Given the description of an element on the screen output the (x, y) to click on. 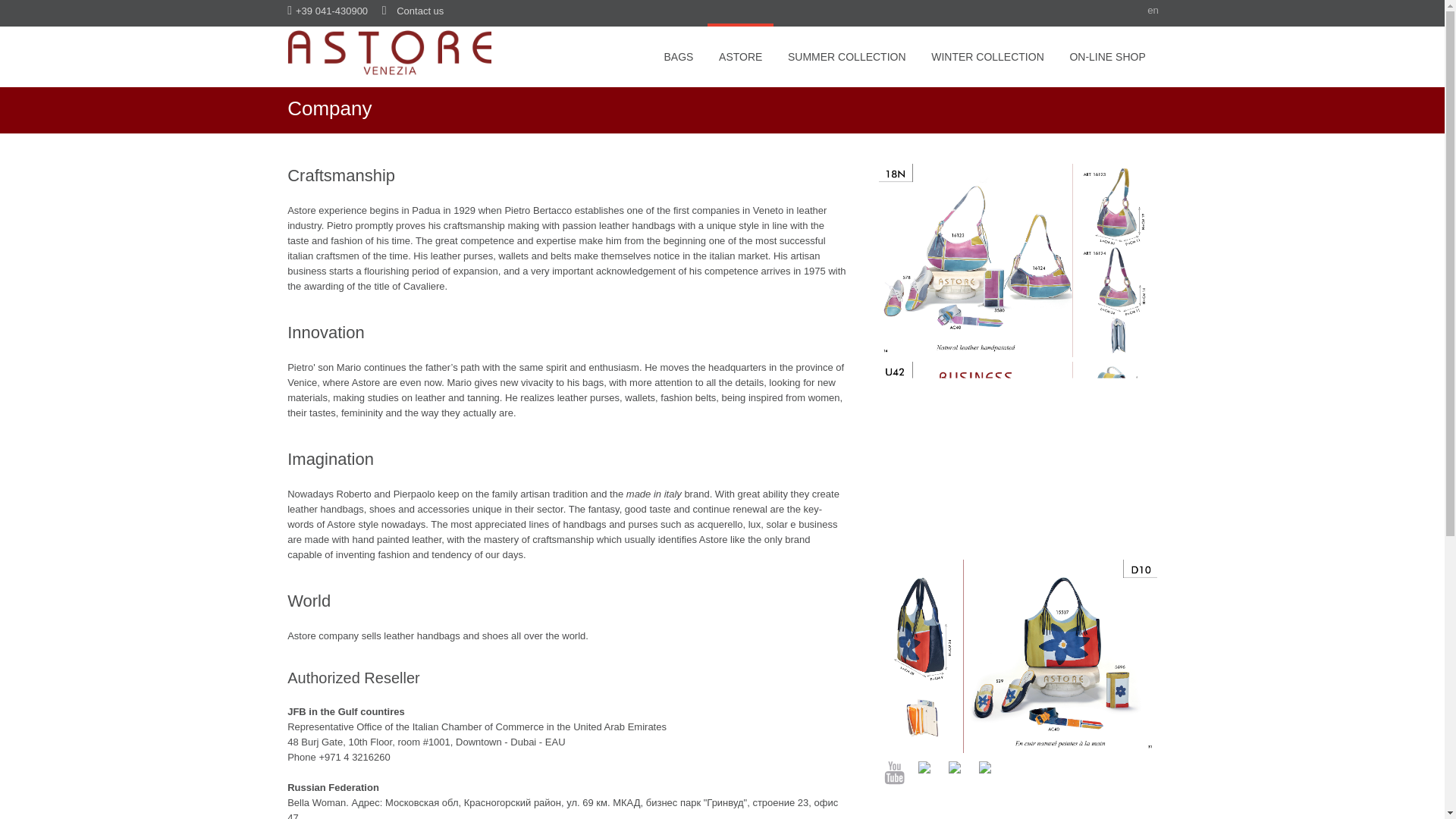
Summer 2024 collection (846, 54)
Company (740, 54)
Summer Collection (1018, 353)
Summer Collection (1018, 749)
ON-LINE SHOP (1107, 54)
Summer Collection (1018, 551)
SUMMER COLLECTION (846, 54)
Contact us (420, 10)
Contact us (420, 10)
On-line shop (1107, 54)
